Given the description of an element on the screen output the (x, y) to click on. 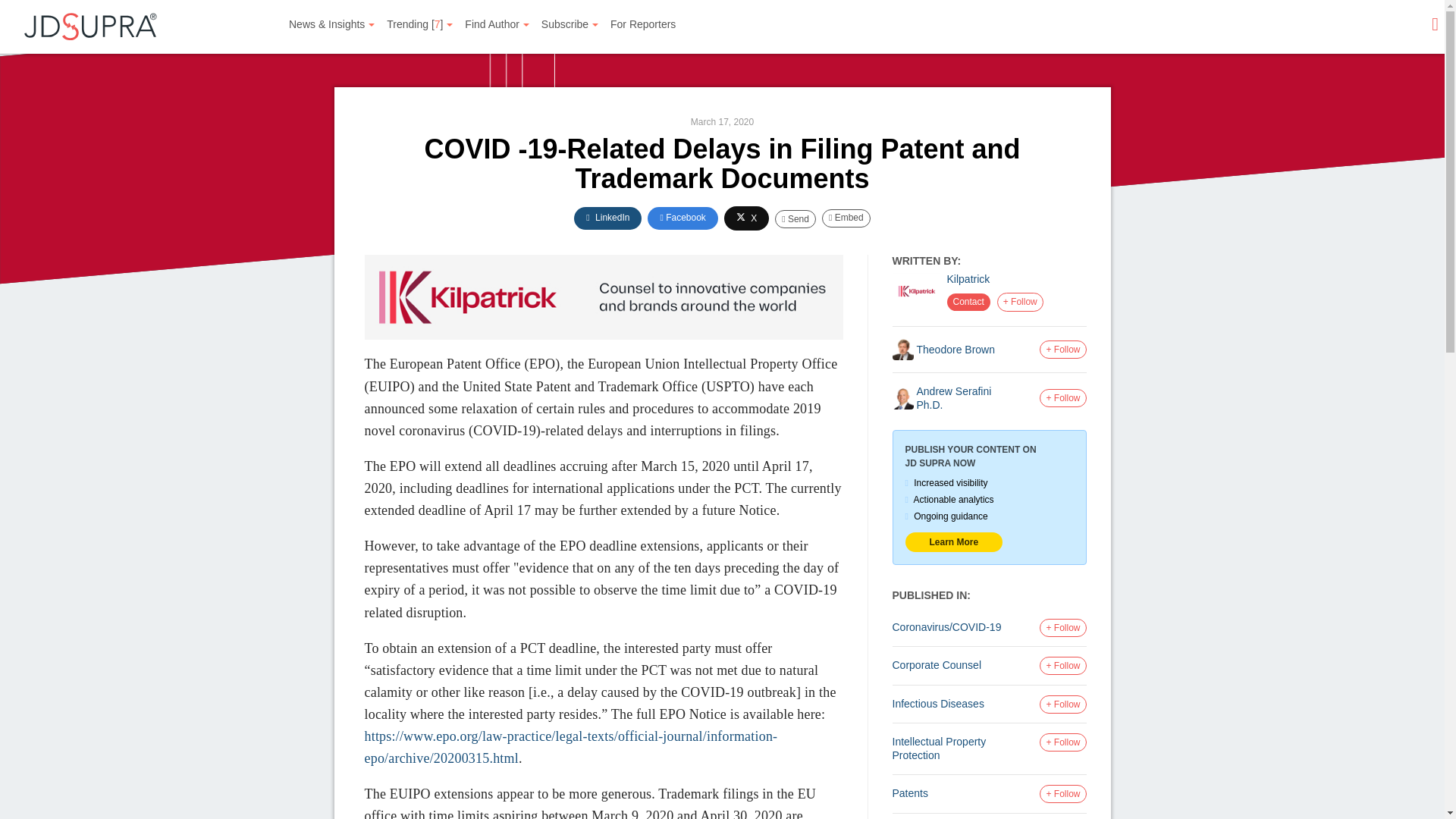
Find Author (496, 23)
